Given the description of an element on the screen output the (x, y) to click on. 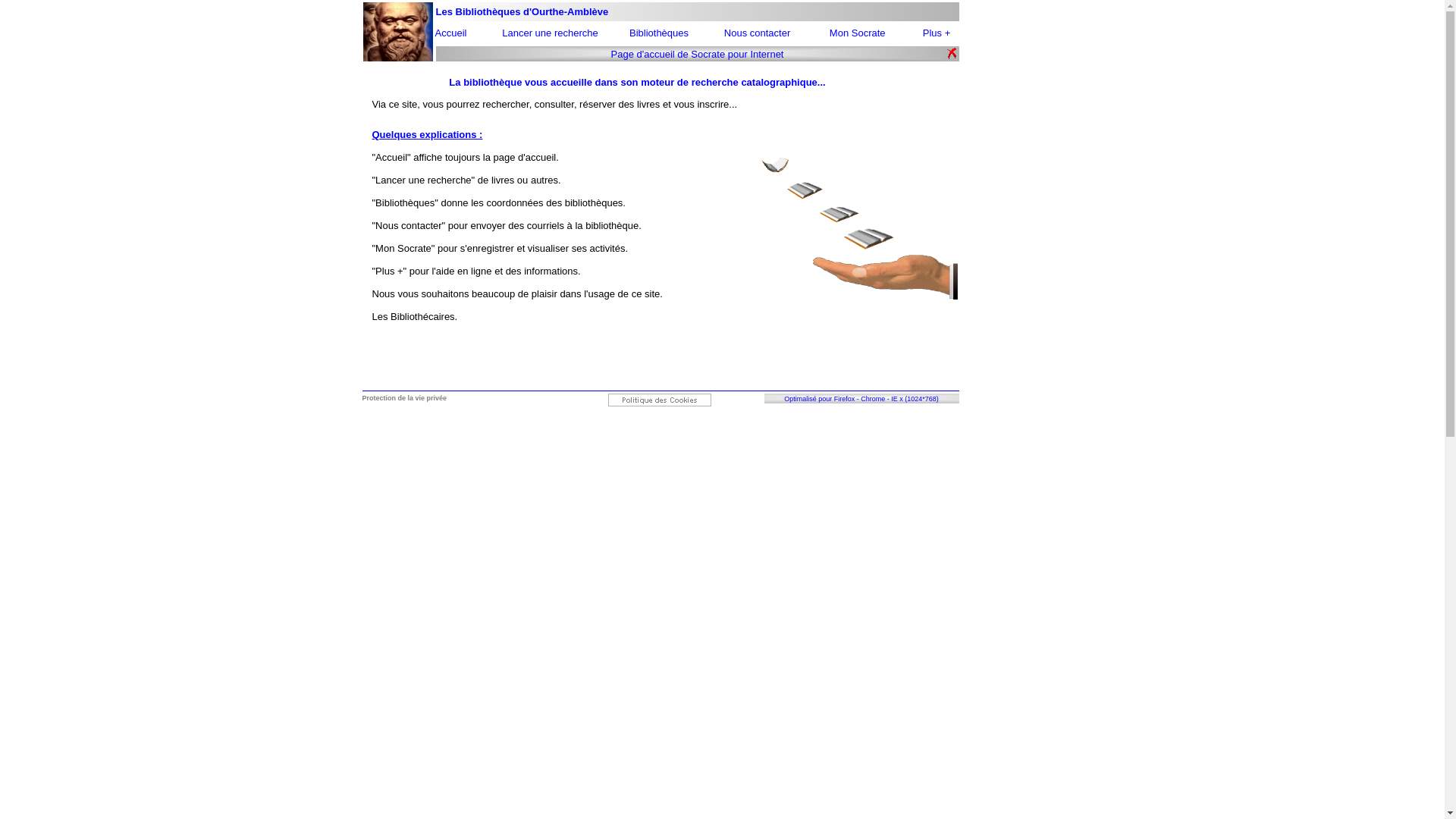
Mon Socrate  Element type: text (858, 32)
Mon Socrate  Element type: text (858, 32)
Lancer une recherche Element type: text (549, 32)
Nous contacter Element type: text (756, 32)
Plus + Element type: text (936, 32)
Plus + Element type: text (936, 32)
Nous contacter Element type: text (757, 32)
Lancer une recherche Element type: text (549, 32)
Accueil Element type: text (451, 32)
